Given the description of an element on the screen output the (x, y) to click on. 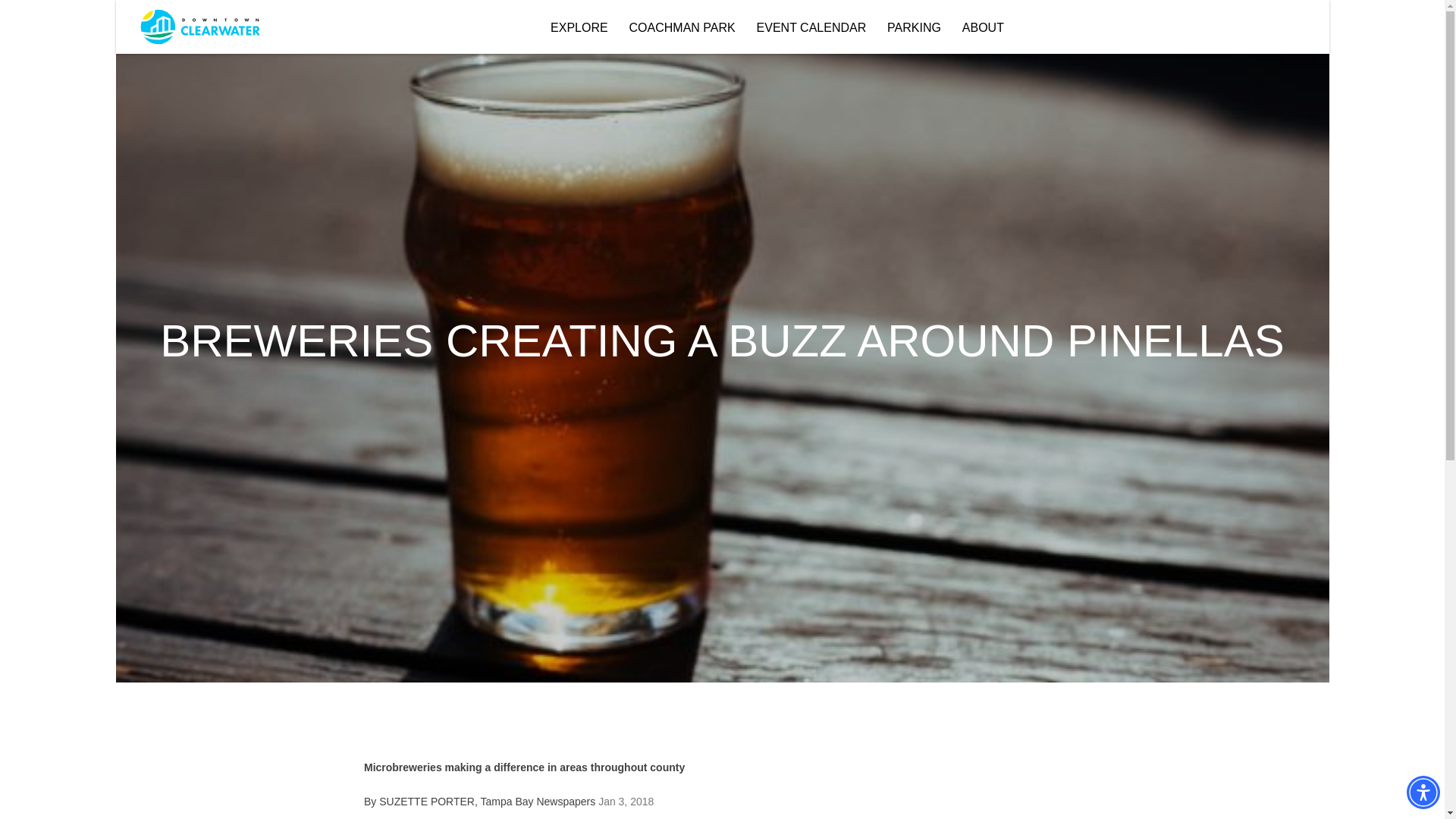
Accessibility Menu (1422, 792)
COACHMAN PARK (681, 27)
EVENT CALENDAR (811, 27)
ABOUT (983, 27)
Home (198, 26)
EXPLORE (579, 27)
PARKING (913, 27)
